Given the description of an element on the screen output the (x, y) to click on. 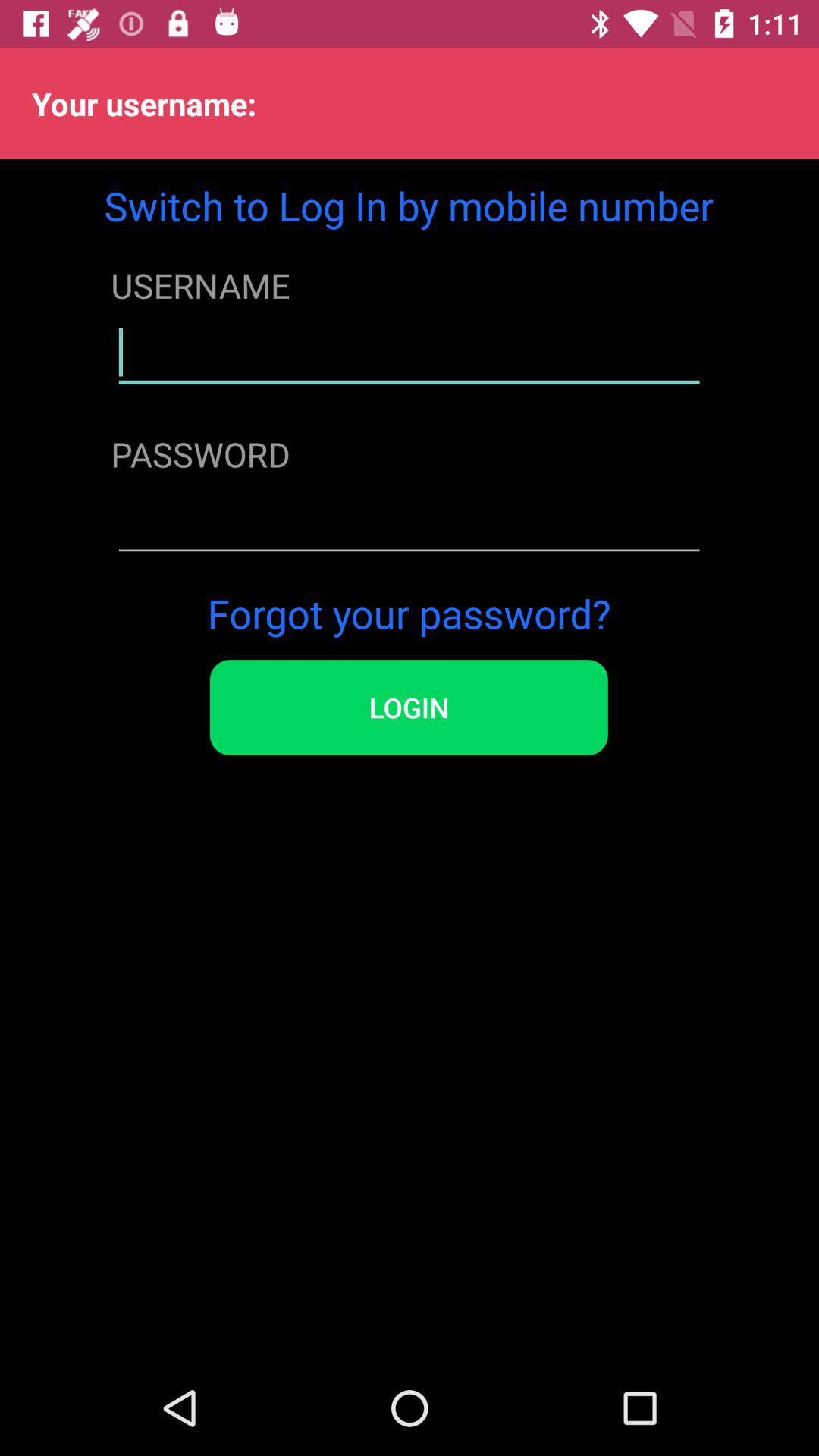
open the icon below your username: app (408, 205)
